Given the description of an element on the screen output the (x, y) to click on. 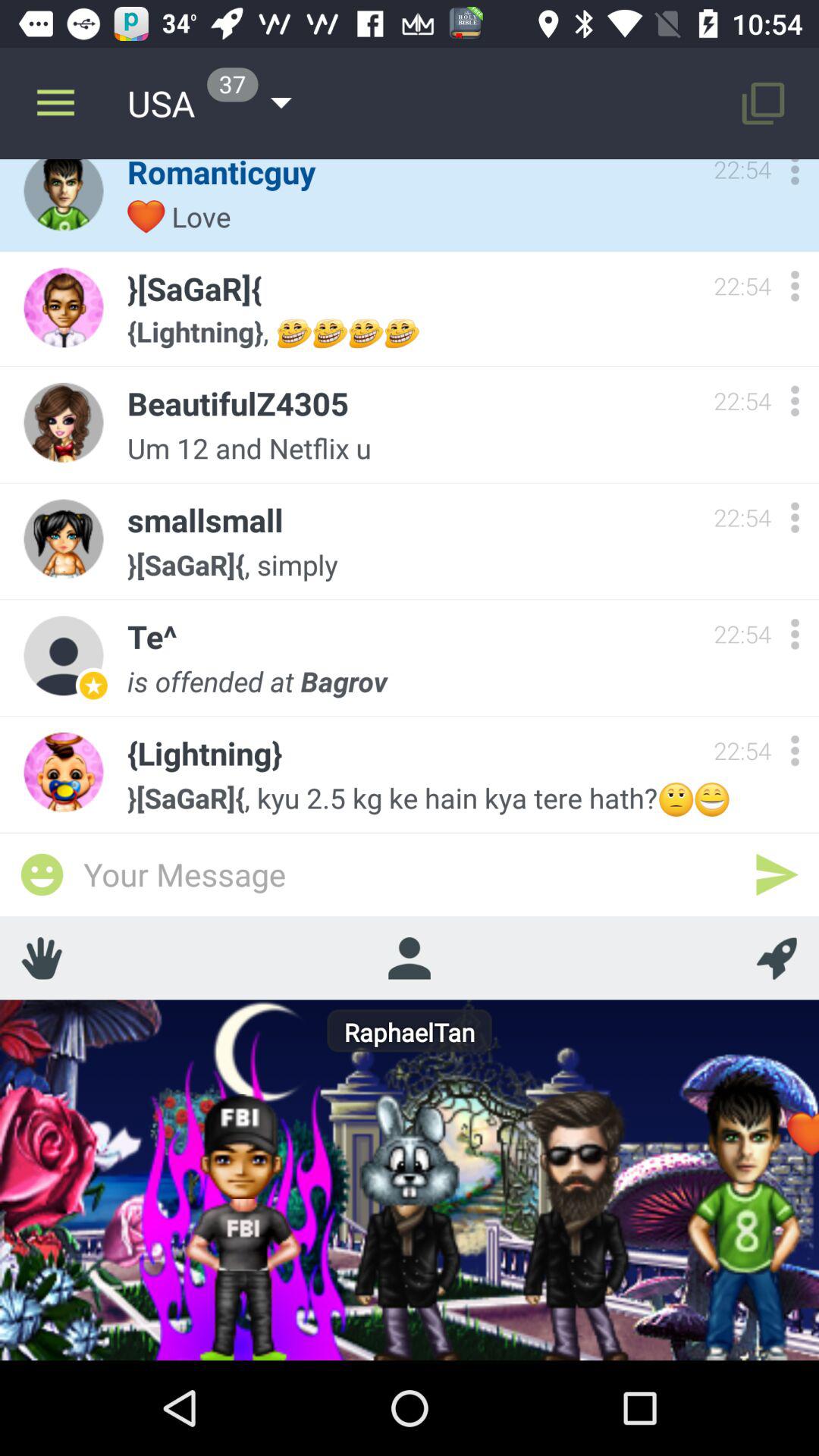
expand chat (795, 285)
